Given the description of an element on the screen output the (x, y) to click on. 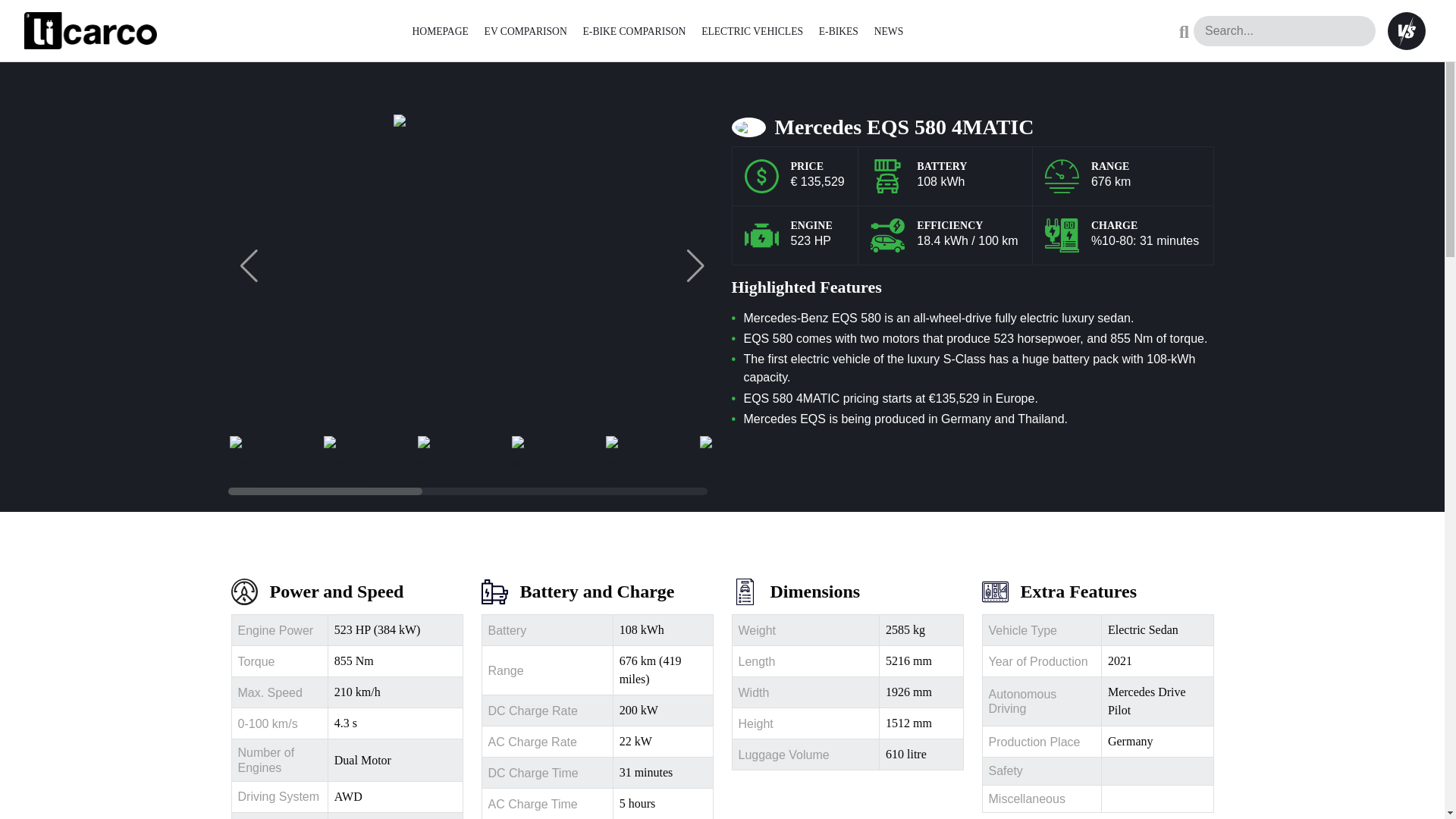
mercedes-eqs-interior-glass-roof (831, 458)
ELECTRIC VEHICLES (752, 30)
mercedes-eqs-battery-capacity (360, 458)
mercedes-eqs-range-wltpe-epa (643, 458)
mercedes-eqs-charge-time (266, 458)
mercedes-eqs-matrix-led-headlight (548, 458)
mercedes-eqs-aerodynamic-efficiency (736, 458)
NEWS (889, 30)
mercedes-eqs-autopilot-drive-pilot (454, 458)
E-BIKES (838, 30)
HOMEPAGE (440, 30)
E-BIKE COMPARISON (634, 30)
EV COMPARISON (525, 30)
